Given the description of an element on the screen output the (x, y) to click on. 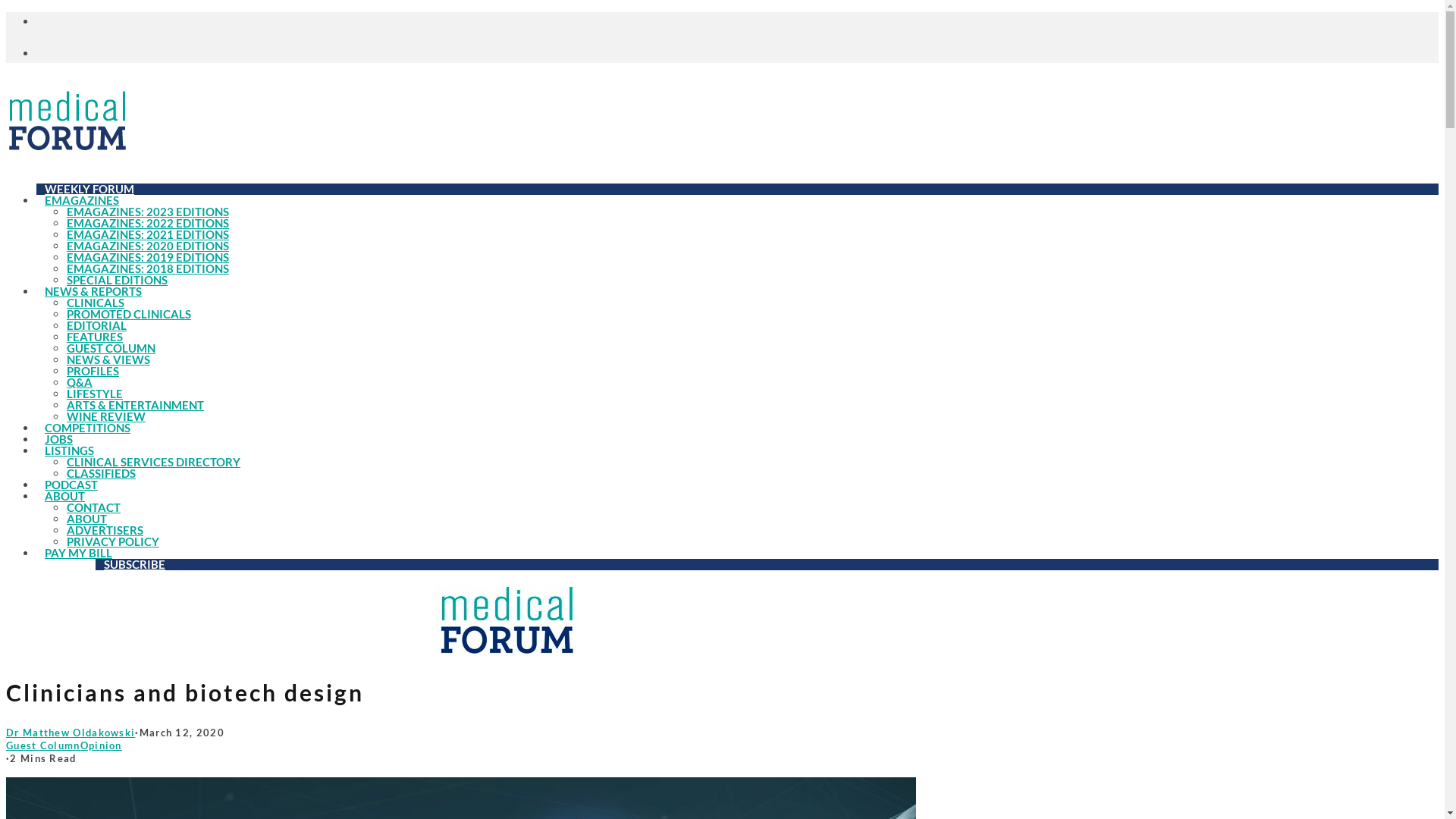
CLINICAL SERVICES DIRECTORY Element type: text (153, 461)
COMPETITIONS Element type: text (87, 427)
NEWS & REPORTS Element type: text (93, 291)
EMAGAZINES: 2020 EDITIONS Element type: text (147, 245)
ABOUT Element type: text (86, 518)
Guest Column Element type: text (43, 745)
EDITORIAL Element type: text (96, 325)
EMAGAZINES: 2018 EDITIONS Element type: text (147, 268)
PRIVACY POLICY Element type: text (112, 541)
ADVERTISERS Element type: text (104, 529)
EMAGAZINES: 2019 EDITIONS Element type: text (147, 256)
PAY MY BILL Element type: text (78, 552)
JOBS Element type: text (58, 438)
FEATURES Element type: text (94, 336)
EMAGAZINES: 2023 EDITIONS Element type: text (147, 211)
PODCAST Element type: text (71, 484)
Opinion Element type: text (101, 745)
NEWS & VIEWS Element type: text (108, 359)
SPECIAL EDITIONS Element type: text (116, 279)
ABOUT Element type: text (64, 495)
PROFILES Element type: text (92, 370)
CLINICALS Element type: text (95, 302)
EMAGAZINES: 2022 EDITIONS Element type: text (147, 222)
CONTACT Element type: text (93, 507)
Dr Matthew Oldakowski Element type: text (70, 732)
EMAGAZINES: 2021 EDITIONS Element type: text (147, 234)
EMAGAZINES Element type: text (81, 200)
LISTINGS Element type: text (69, 450)
SUBSCRIBE Element type: text (134, 564)
PROMOTED CLINICALS Element type: text (128, 313)
WEEKLY FORUM Element type: text (89, 188)
Q&A Element type: text (79, 382)
CLASSIFIEDS Element type: text (100, 473)
LIFESTYLE Element type: text (94, 393)
GUEST COLUMN Element type: text (110, 347)
ARTS & ENTERTAINMENT Element type: text (134, 404)
WINE REVIEW Element type: text (105, 416)
